Given the description of an element on the screen output the (x, y) to click on. 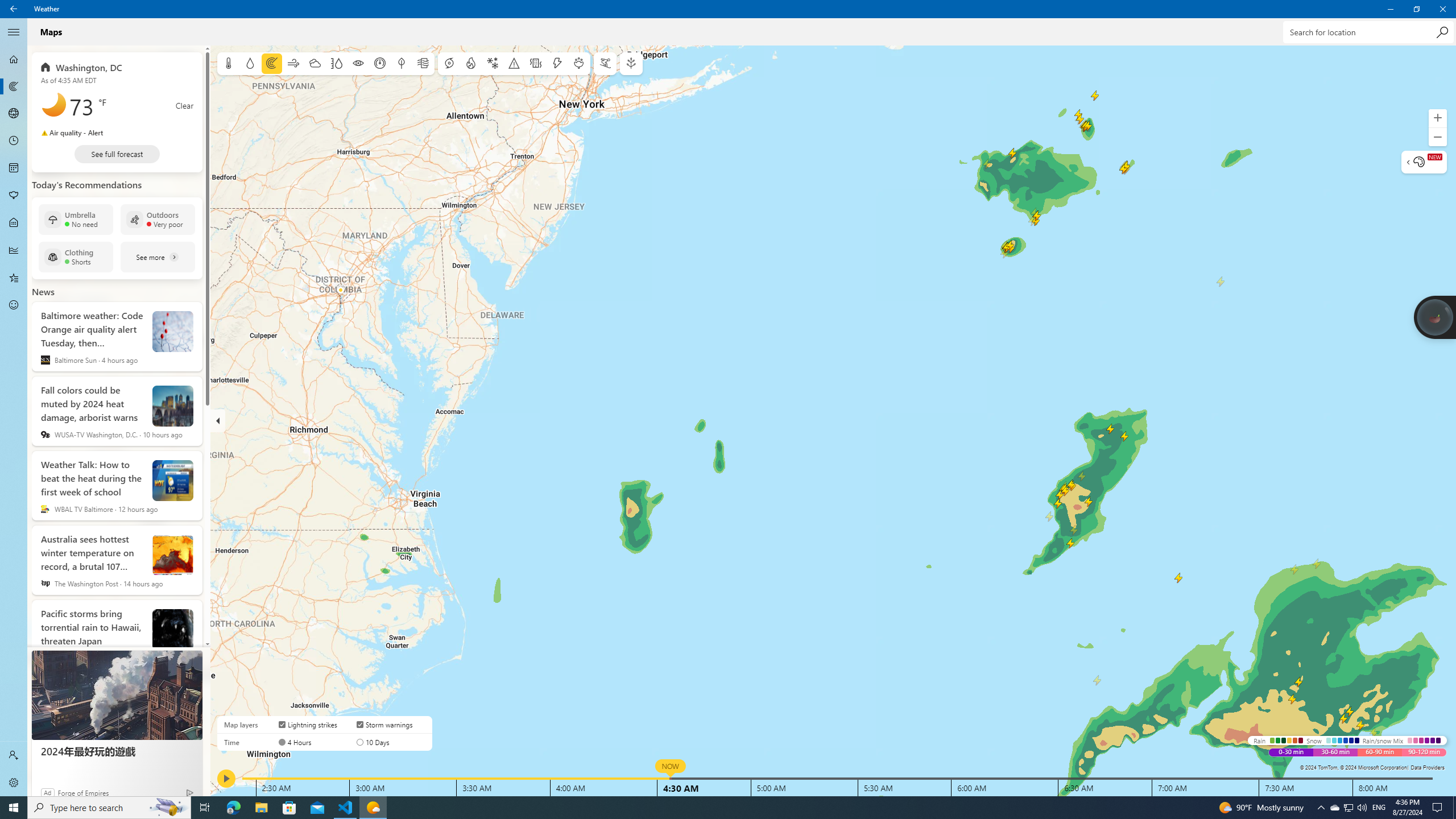
Maps - Not Selected (13, 85)
Collapse Navigation (13, 31)
Minimize Weather (1390, 9)
Hourly Forecast - Not Selected (13, 140)
3D Maps - Not Selected (13, 113)
Running applications (706, 807)
Search (1442, 31)
Back (13, 9)
Pollen - Not Selected (13, 195)
Pollen - Not Selected (13, 195)
Life - Not Selected (13, 222)
